Given the description of an element on the screen output the (x, y) to click on. 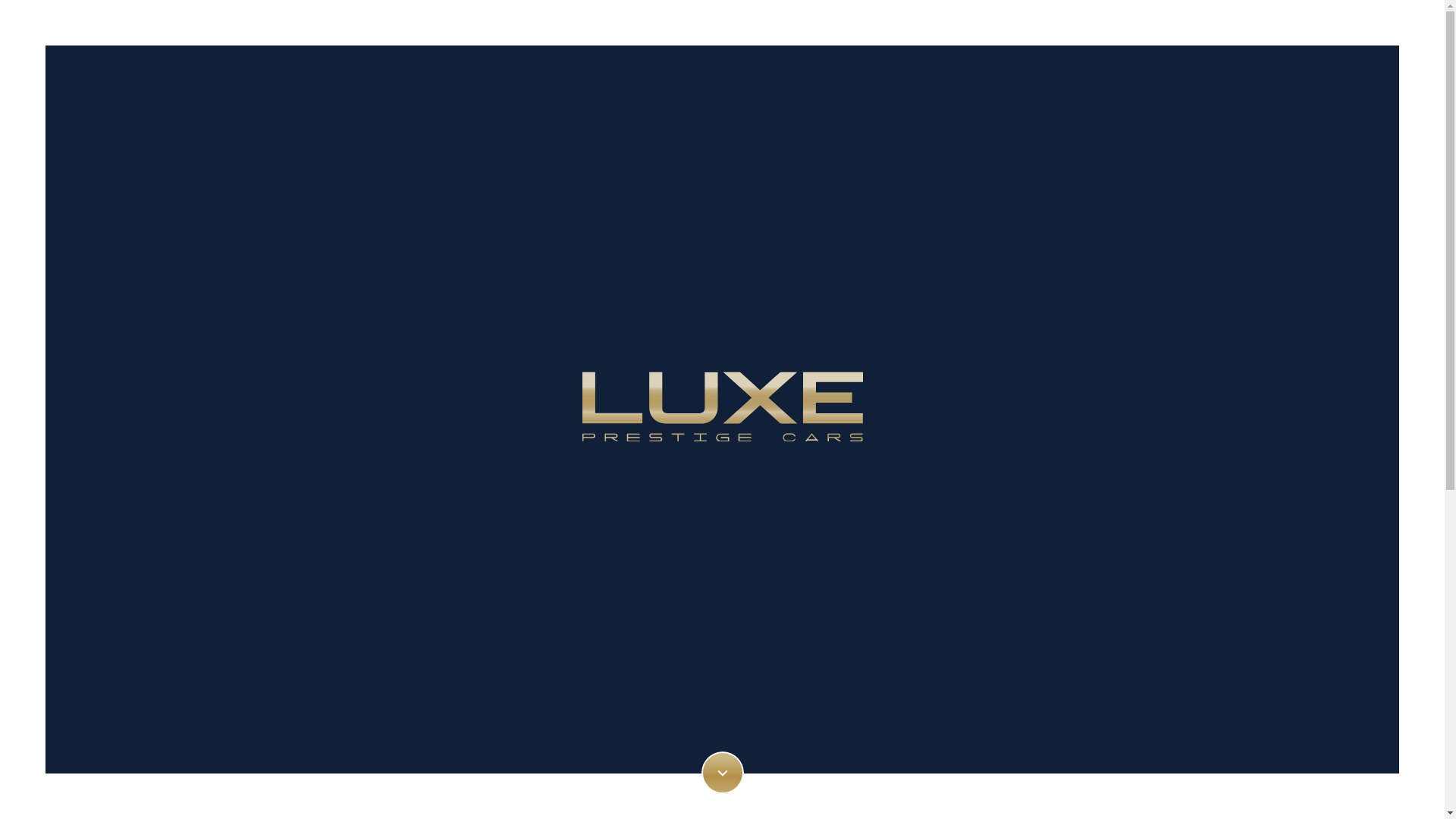
Scroll Down Element type: hover (721, 772)
Enquire Now Element type: text (1019, 649)
